Given the description of an element on the screen output the (x, y) to click on. 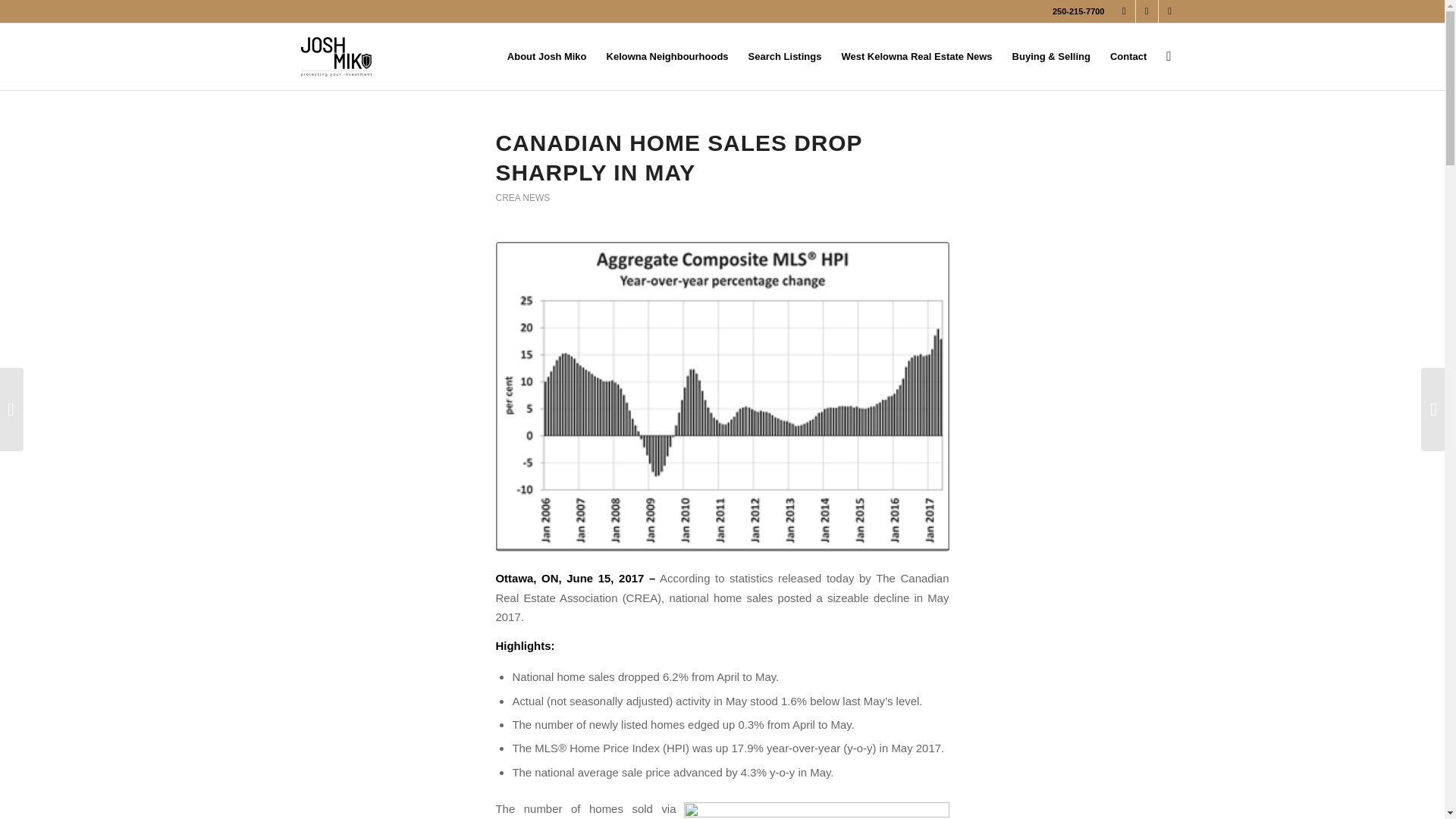
Search Listings (784, 56)
best realtor in west kelowna 2024 black version (336, 56)
Kelowna Neighbourhoods (667, 56)
West Kelowna Real Estate News (916, 56)
About Josh Miko (546, 56)
LinkedIn (1124, 11)
Facebook (1146, 11)
Mail (1169, 11)
